Given the description of an element on the screen output the (x, y) to click on. 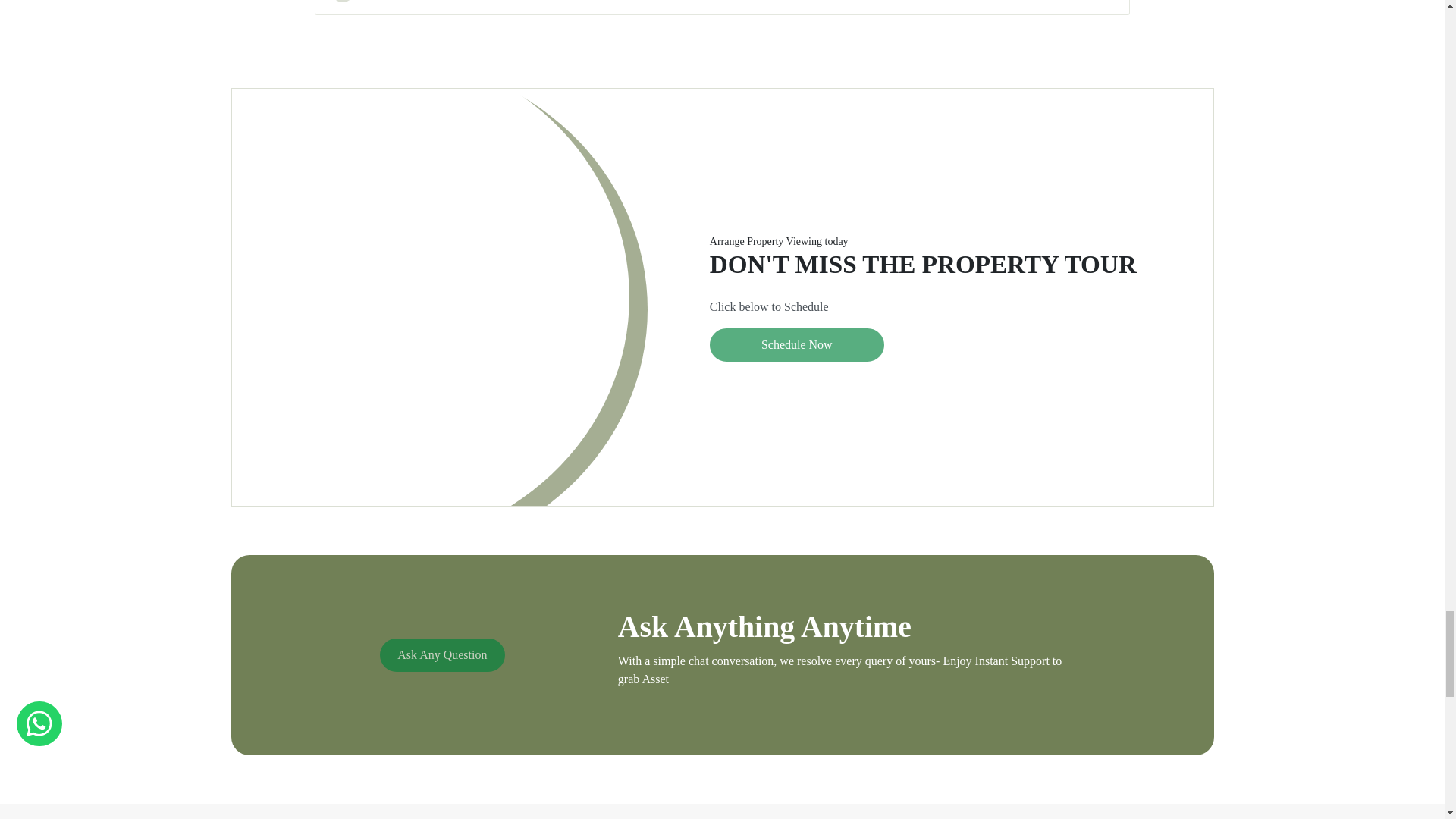
Ask Any Question (441, 654)
What are the benefits of Evergreens? (722, 7)
Schedule Now (796, 344)
